Given the description of an element on the screen output the (x, y) to click on. 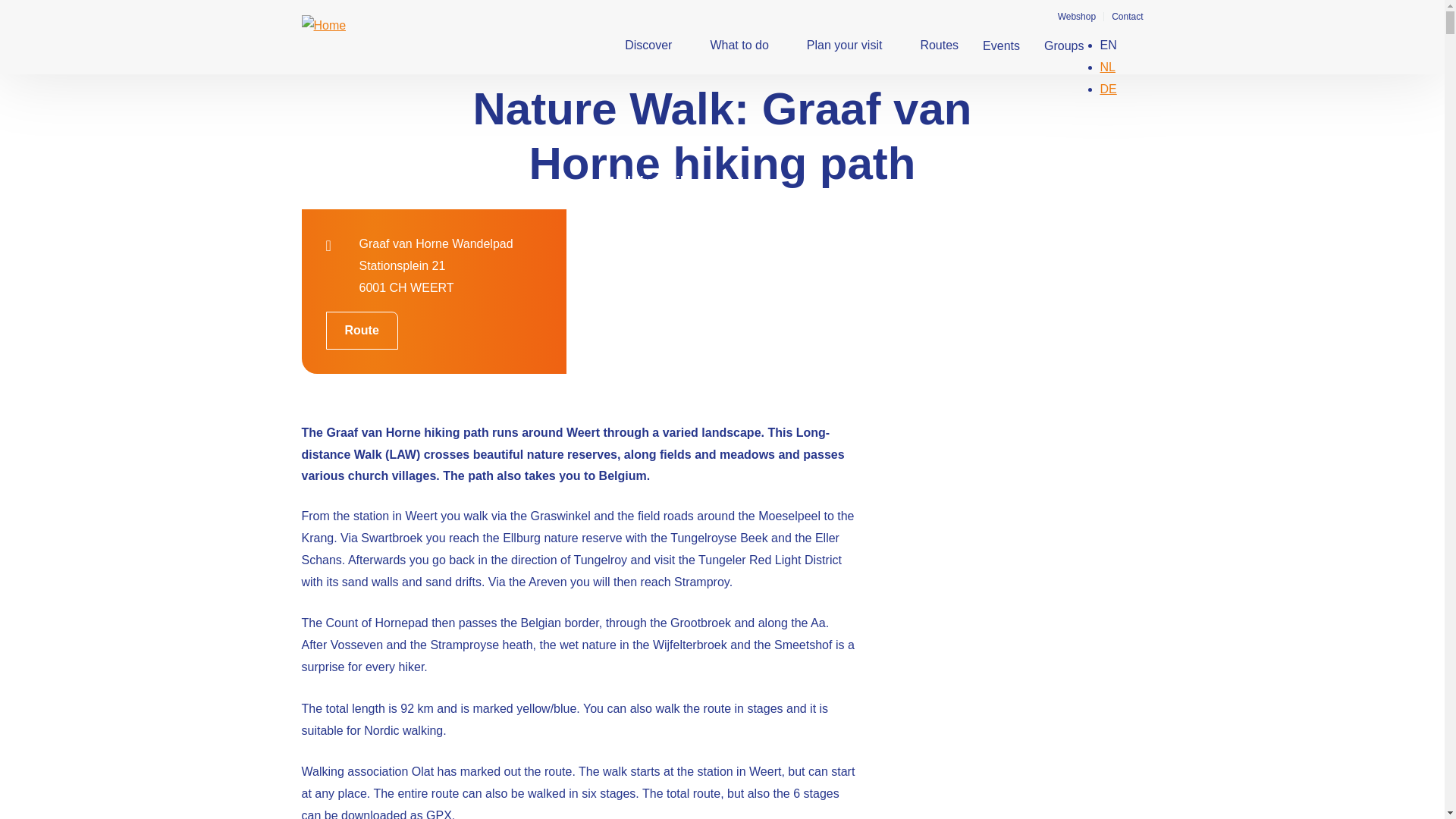
Contact (1127, 16)
Events (1001, 46)
Plan your visit (837, 45)
What to do (732, 45)
Discover (641, 45)
Routes (932, 45)
Groups (1064, 46)
Webshop (1077, 16)
